Given the description of an element on the screen output the (x, y) to click on. 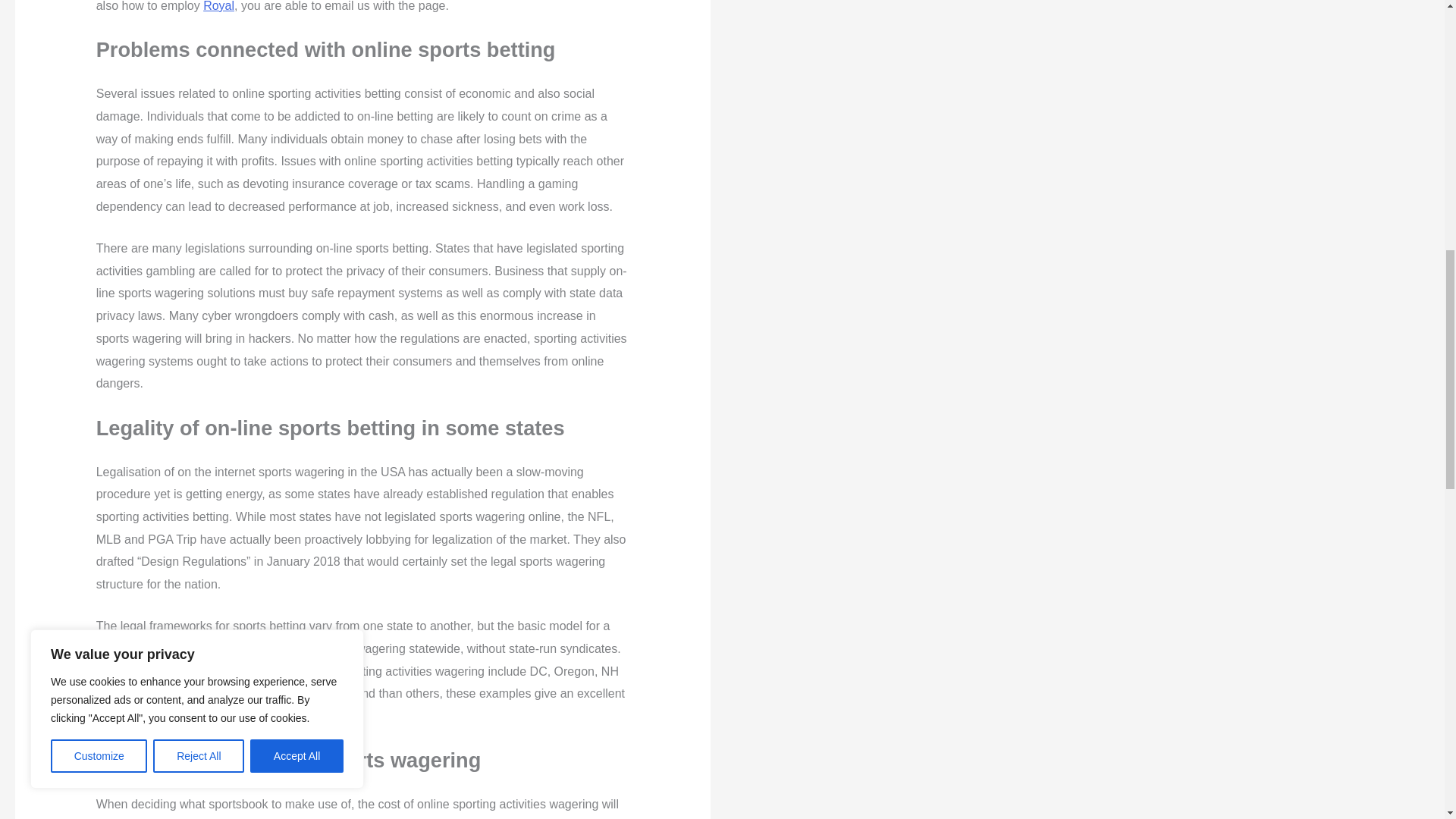
Royal (218, 6)
